Given the description of an element on the screen output the (x, y) to click on. 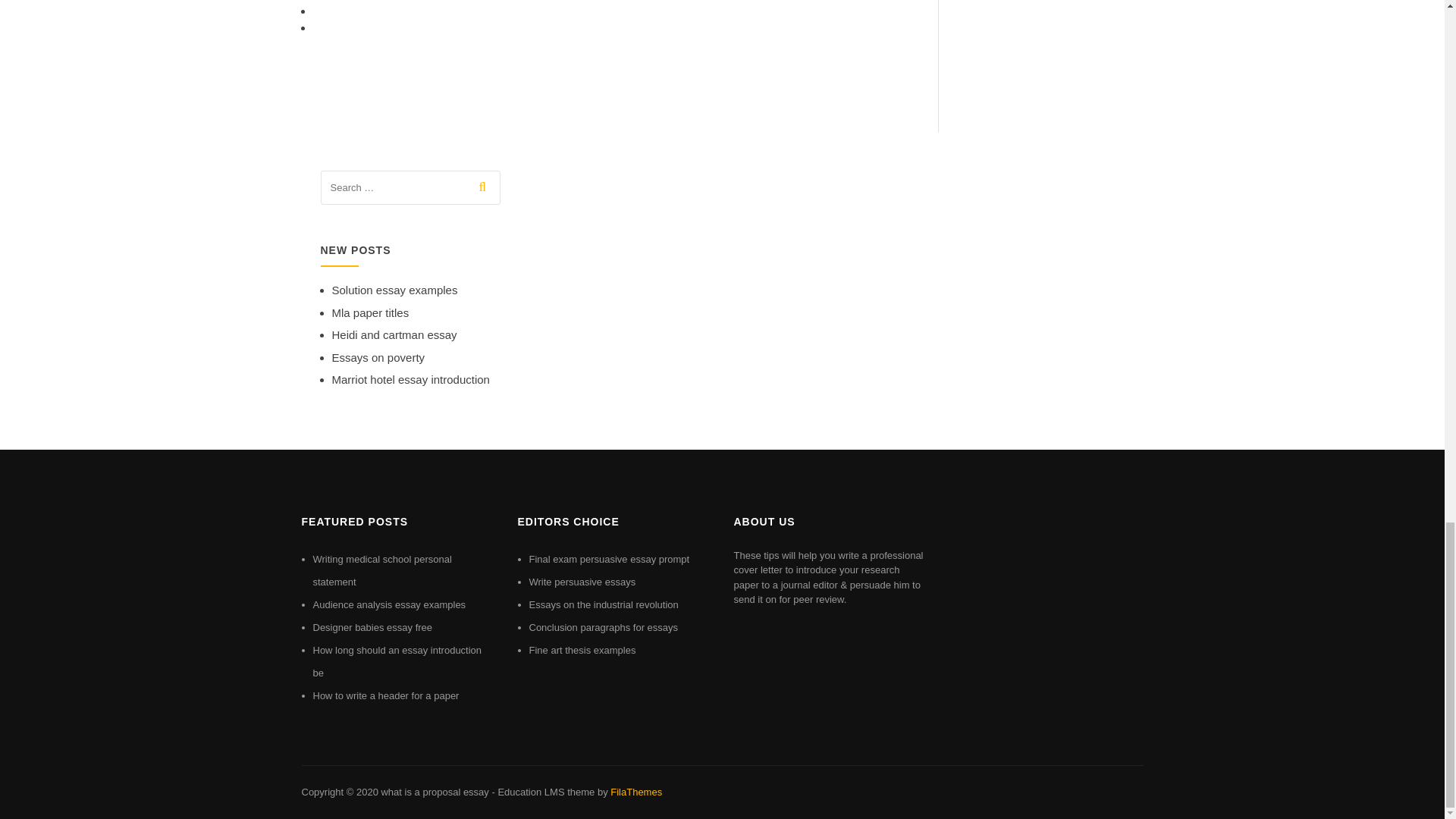
Solution essay examples (394, 289)
Marriot hotel essay introduction (410, 379)
Writing medical school personal statement (382, 570)
How long should an essay introduction be (397, 661)
Essays on poverty (378, 357)
Heidi and cartman essay (394, 334)
Audience analysis essay examples (389, 604)
Designer babies essay free (372, 627)
Write persuasive essays (582, 582)
Fine art thesis examples (582, 650)
How to write a header for a paper (385, 695)
what is a proposal essay (433, 791)
Final exam persuasive essay prompt (609, 559)
Conclusion paragraphs for essays (603, 627)
Mla paper titles (370, 312)
